Given the description of an element on the screen output the (x, y) to click on. 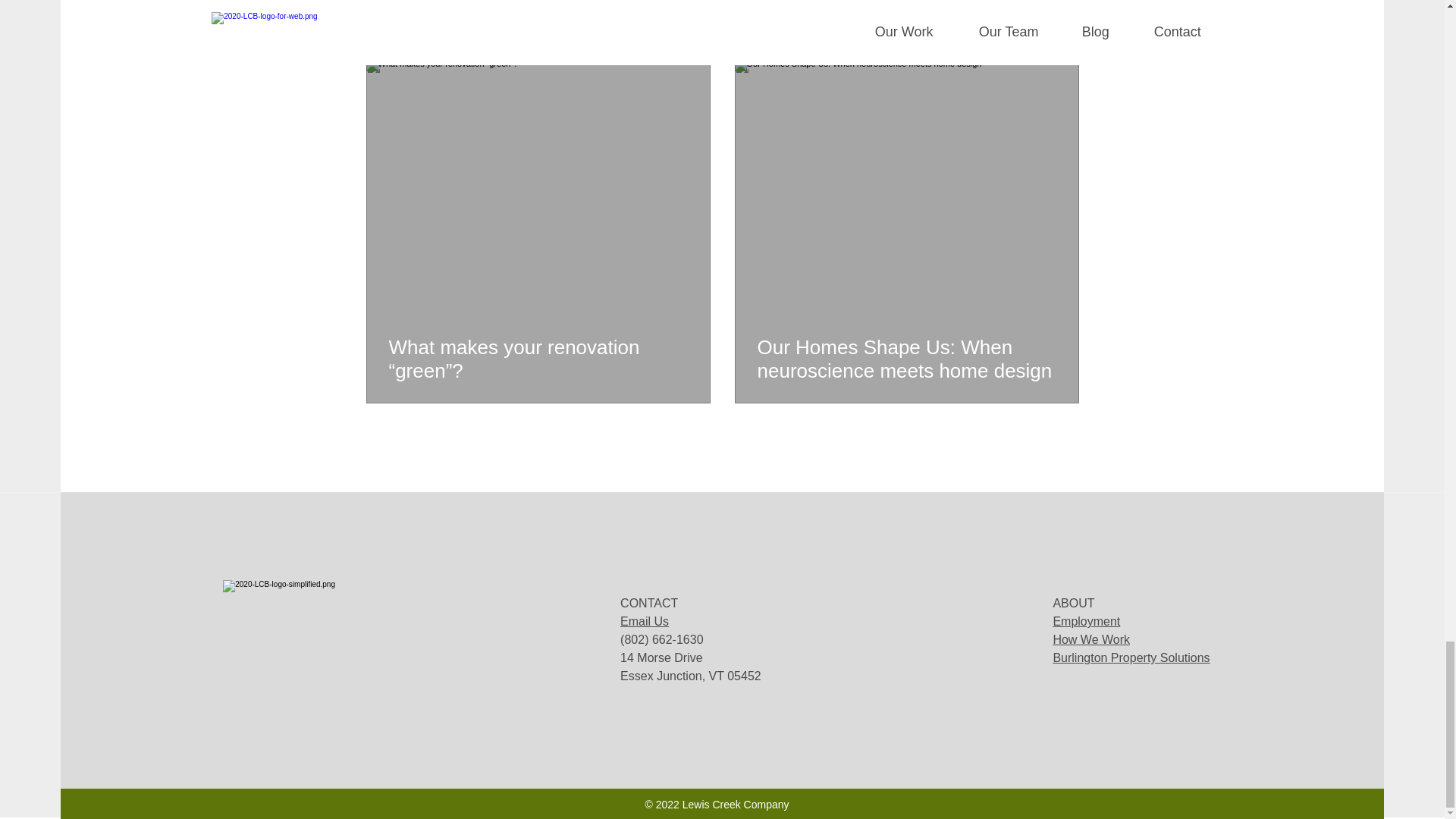
How We Work (1090, 639)
Burlington Property Solutions (1130, 657)
Email Us (644, 621)
Employment (1085, 621)
Our Homes Shape Us: When neuroscience meets home design (906, 358)
